Given the description of an element on the screen output the (x, y) to click on. 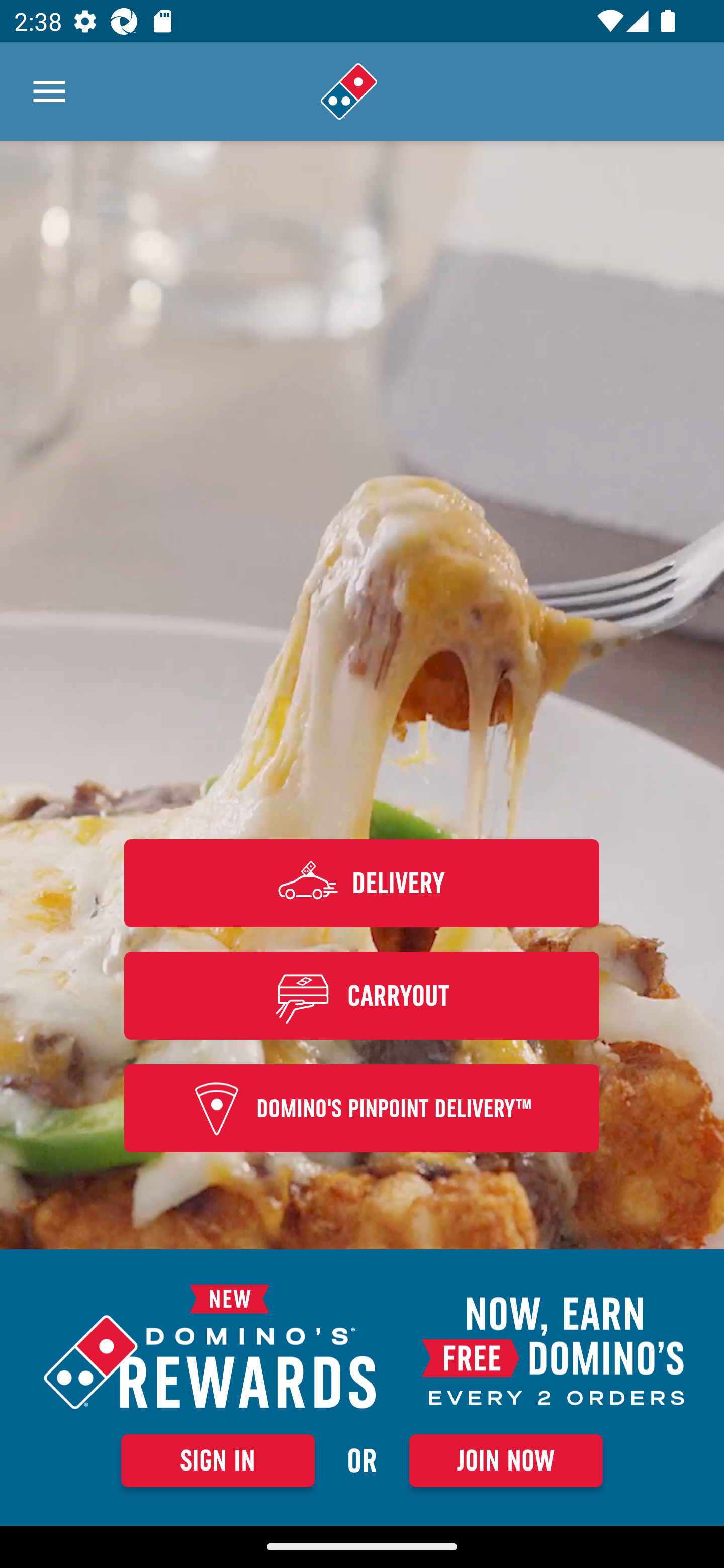
Expand Menu (49, 91)
DELIVERY (361, 882)
CARRYOUT (361, 995)
DOMINO'S PINPOINT DELIVERY™ (361, 1108)
SIGN IN (217, 1460)
JOIN NOW (506, 1460)
